Given the description of an element on the screen output the (x, y) to click on. 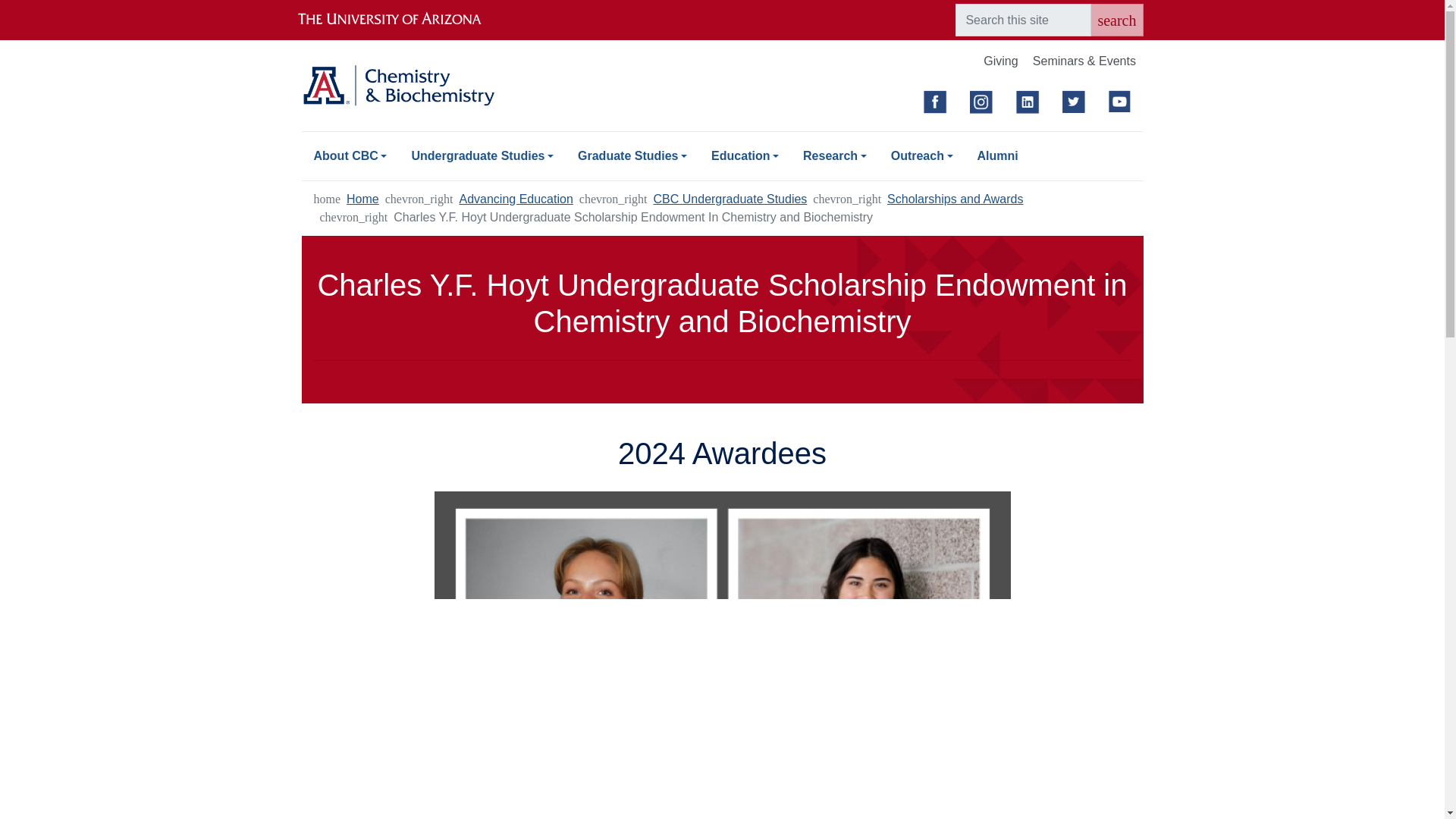
Enter the terms you wish to search for. (1022, 20)
Undergraduate Studies (482, 155)
Skip to main content (721, 1)
search (1116, 20)
About CBC (349, 155)
Giving (1000, 62)
The University of Arizona homepage (401, 20)
Graduate Studies (632, 155)
